Given the description of an element on the screen output the (x, y) to click on. 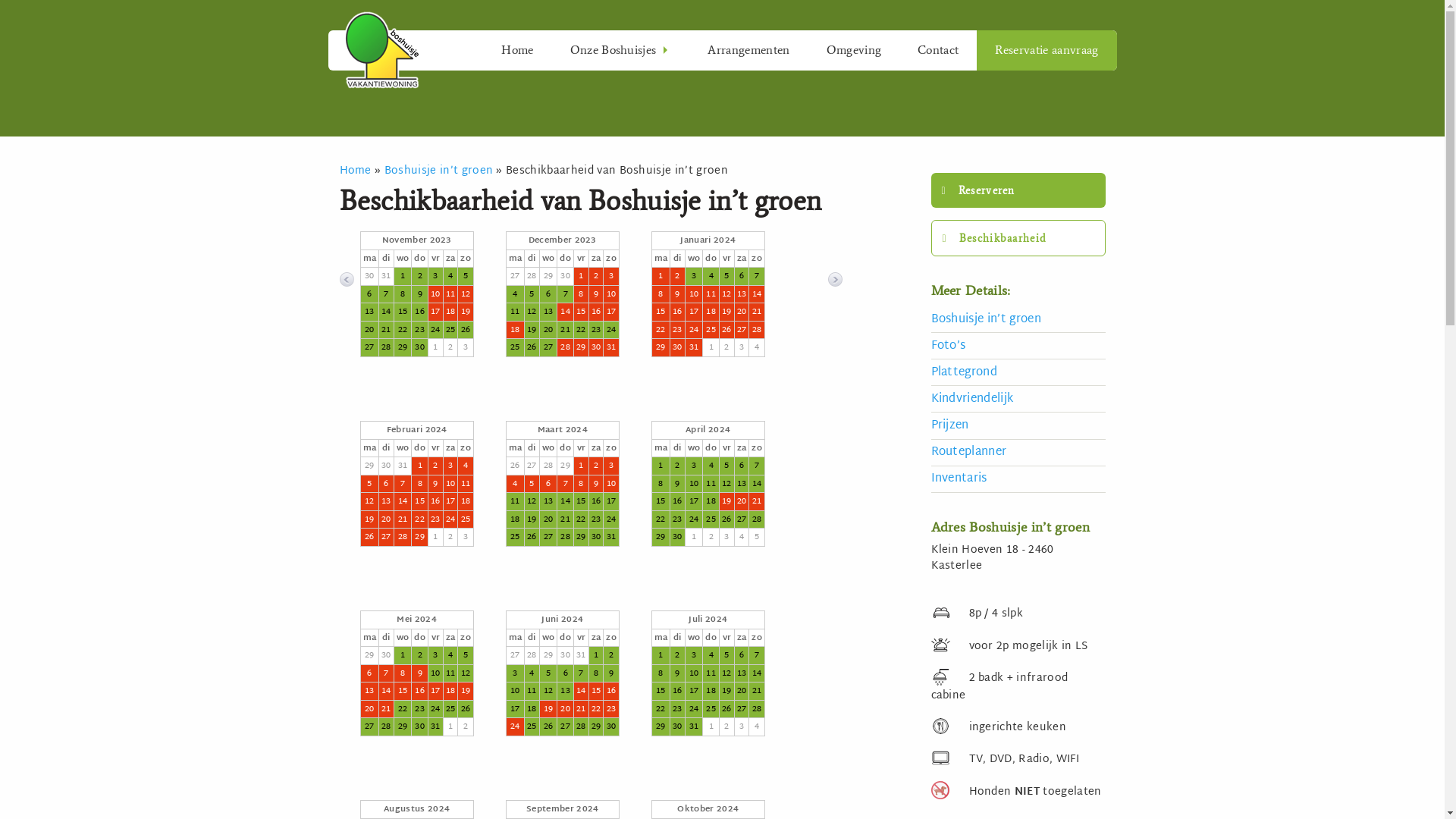
Kindvriendelijk Element type: text (1018, 398)
Home Element type: text (355, 170)
Prijzen Element type: text (1018, 425)
Inventaris Element type: text (1018, 479)
Routeplanner Element type: text (1018, 452)
Home Element type: text (517, 50)
Contact Element type: text (937, 50)
Reservatie aanvraag Element type: text (1046, 50)
Onze Boshuisjes Element type: text (621, 50)
Arrangementen Element type: text (748, 50)
Reserveren Element type: text (1018, 189)
Plattegrond Element type: text (1018, 372)
Omgeving Element type: text (854, 50)
Beschikbaarheid Element type: text (1018, 237)
